Given the description of an element on the screen output the (x, y) to click on. 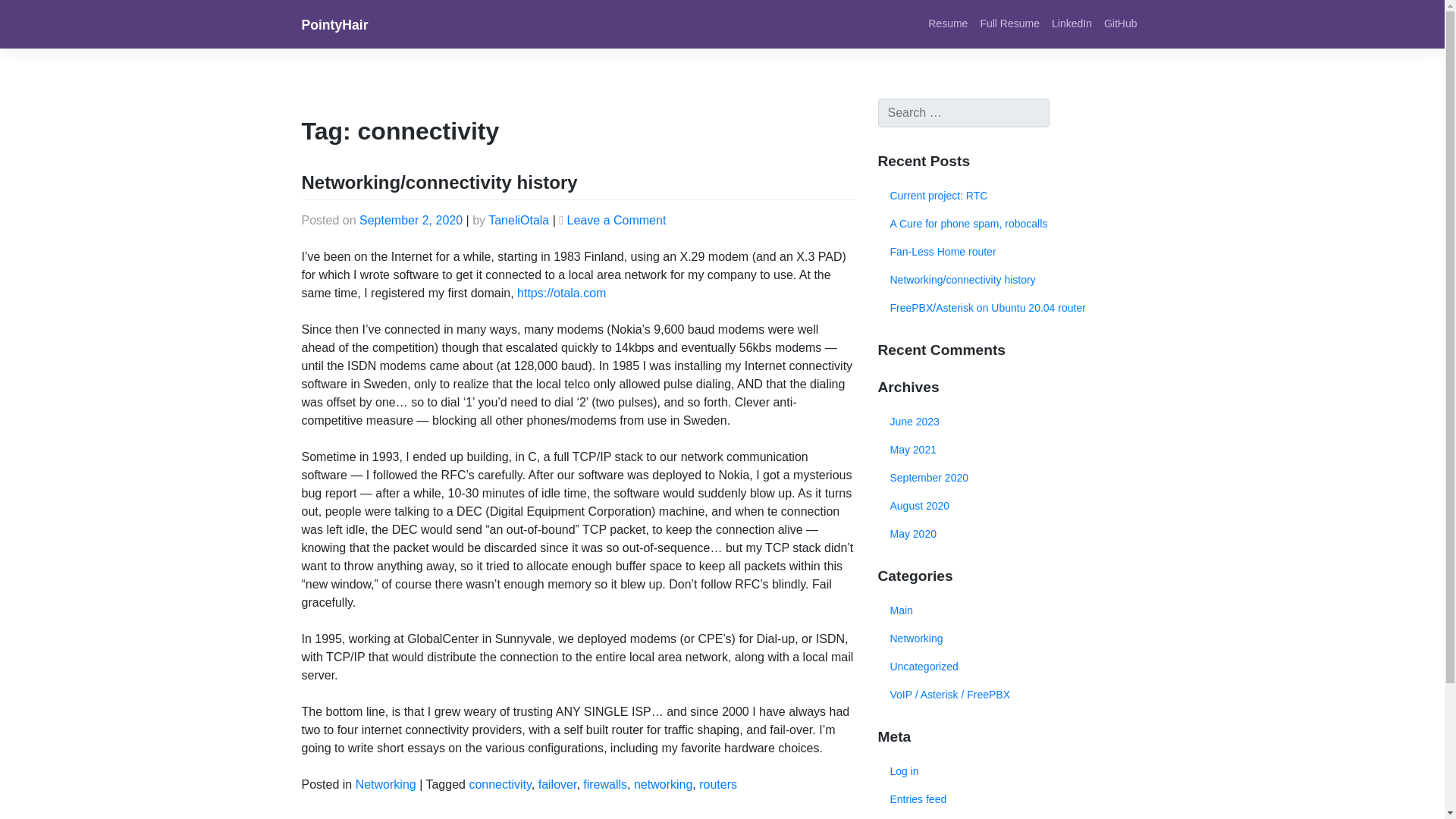
firewalls (605, 784)
Full Resume (1009, 23)
A Cure for phone spam, robocalls (1009, 223)
Search for: (963, 112)
Full Resume (1009, 23)
Log in (1009, 771)
Search (29, 14)
Fan-Less Home router (1009, 252)
GitHub (1119, 23)
routers (717, 784)
May 2020 (1009, 533)
LinkedIn (1071, 23)
LinkedIn (1071, 23)
Current project: RTC (1009, 195)
failover (557, 784)
